Given the description of an element on the screen output the (x, y) to click on. 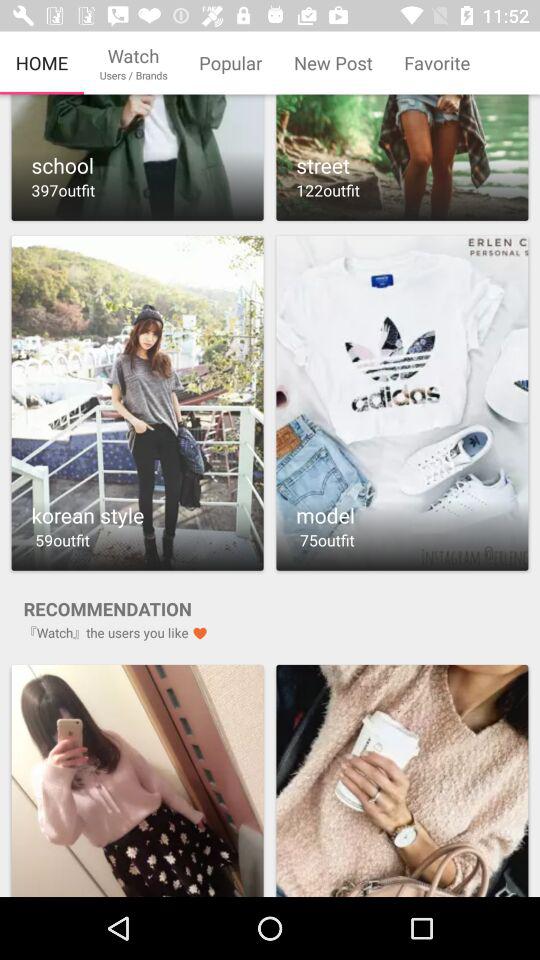
select article (402, 158)
